Given the description of an element on the screen output the (x, y) to click on. 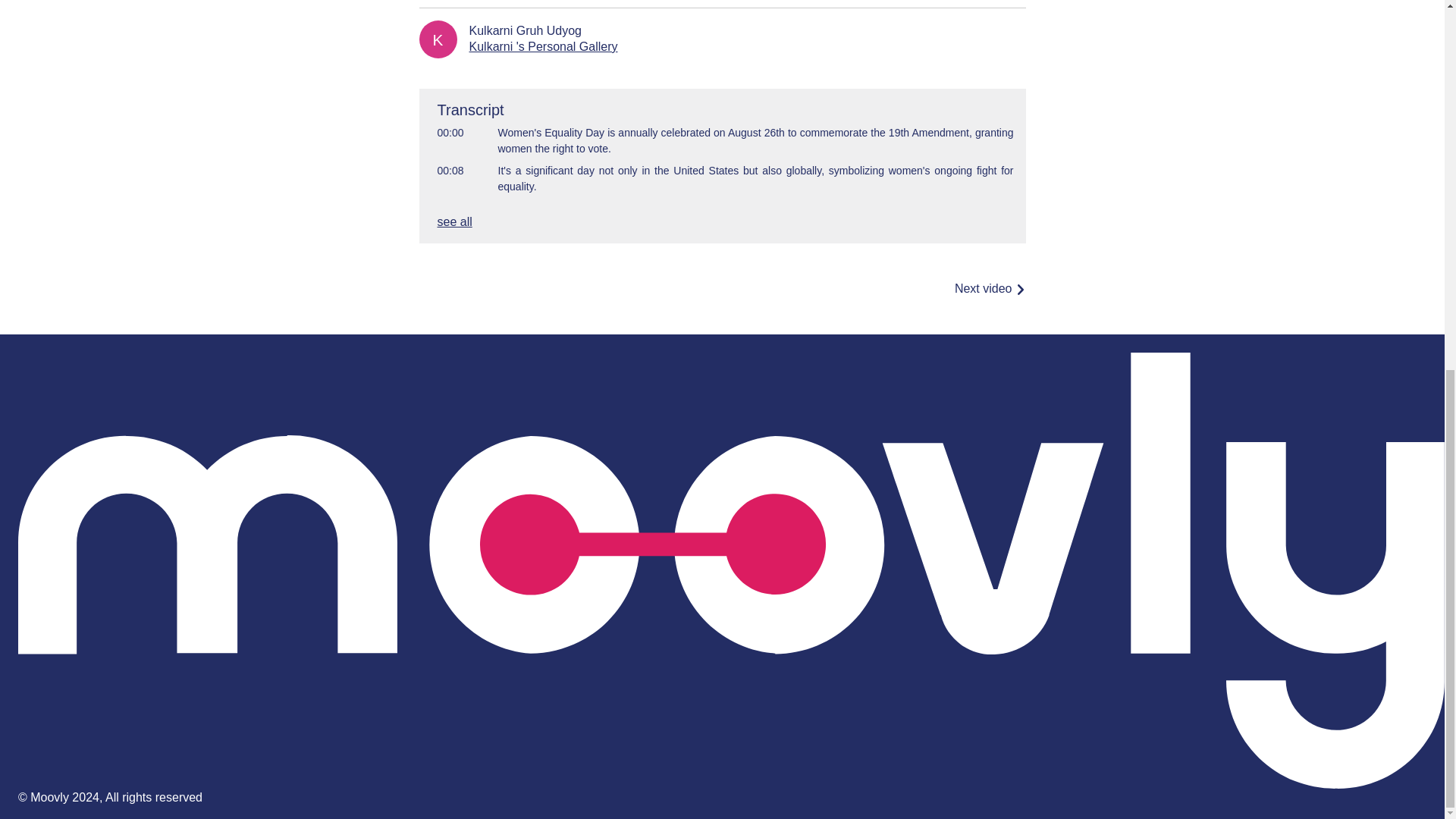
Kulkarni 's Personal Gallery (542, 46)
Next video (990, 287)
see all (453, 221)
